Given the description of an element on the screen output the (x, y) to click on. 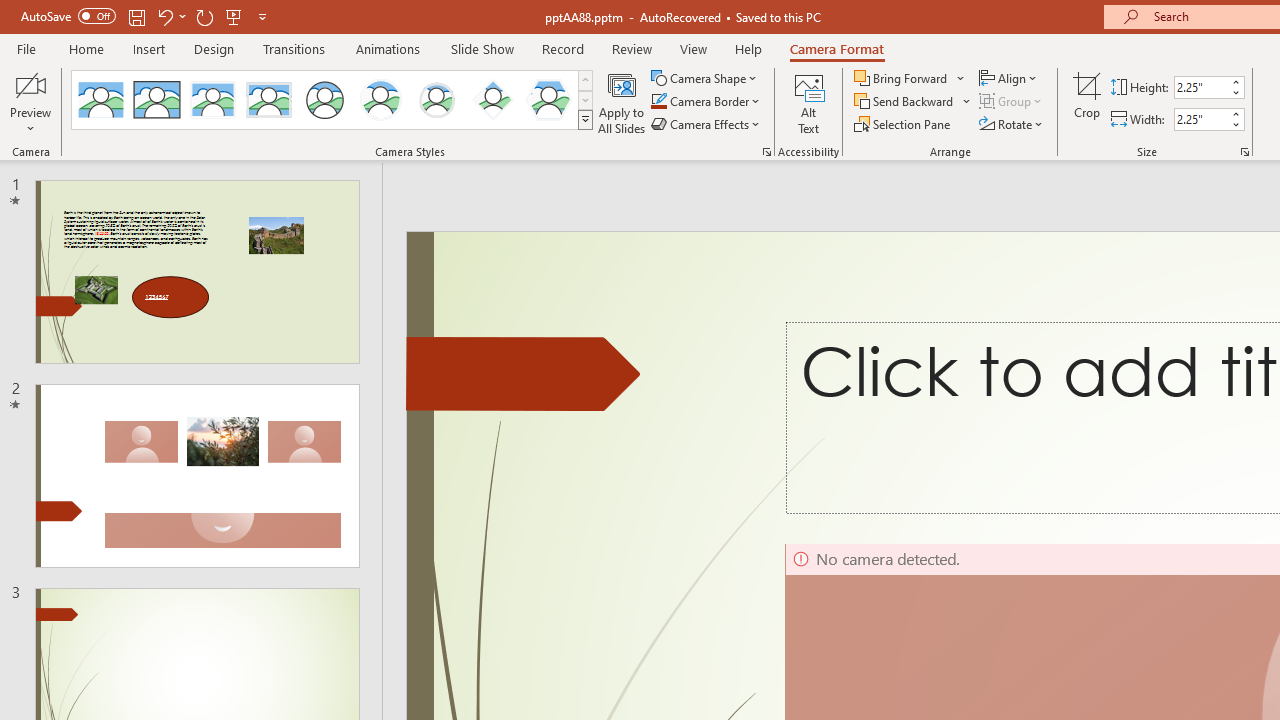
Camera Format (836, 48)
Send Backward (905, 101)
Center Shadow Rectangle (212, 100)
Crop (1087, 102)
AutomationID: CameoStylesGallery (333, 99)
